Given the description of an element on the screen output the (x, y) to click on. 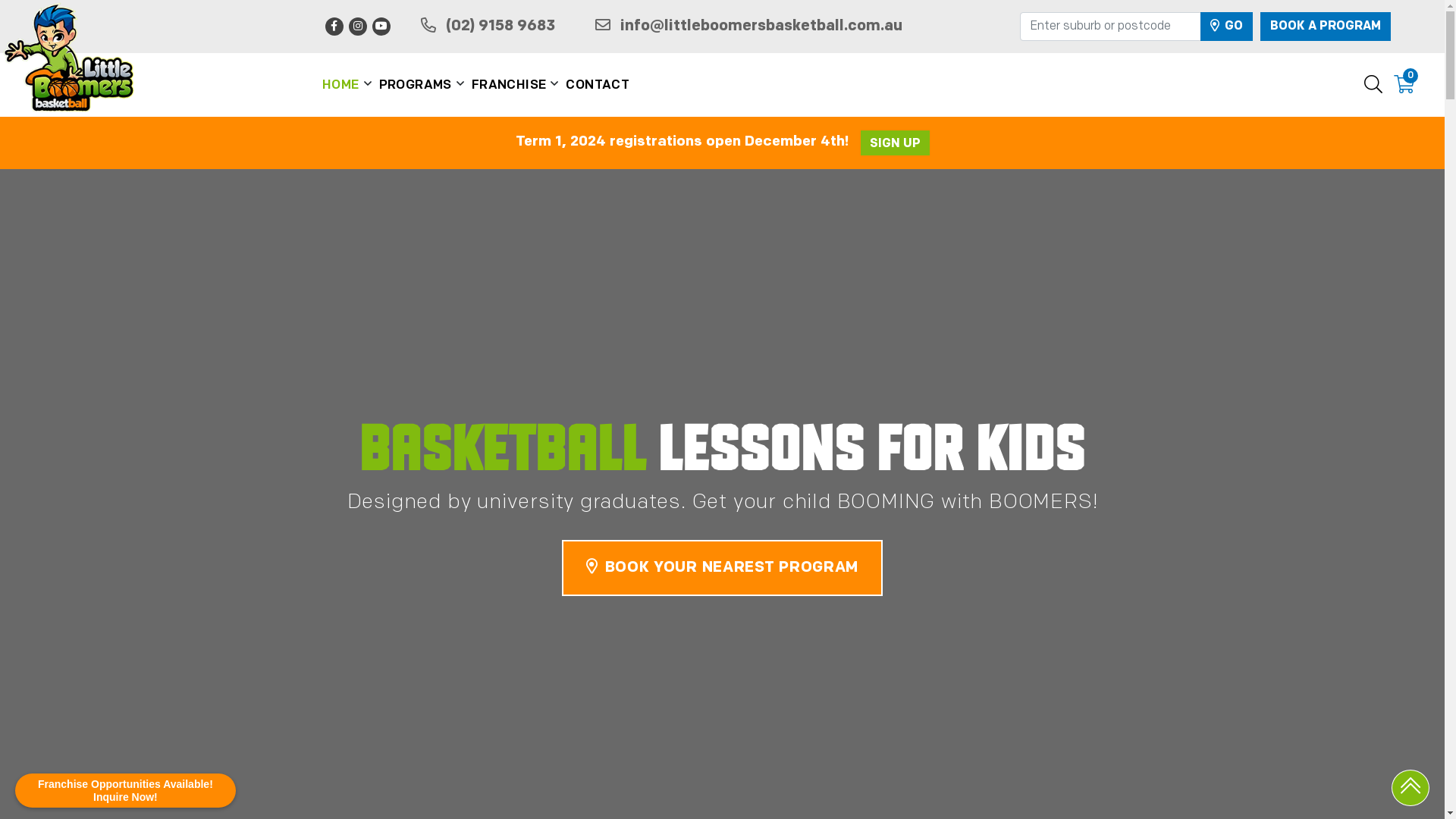
(02) 9158 9683 Element type: text (487, 26)
info@littleboomersbasketball.com.au Element type: text (748, 26)
FRANCHISE Element type: text (508, 85)
 GO Element type: text (1225, 26)
BOOK YOUR NEAREST PROGRAM Element type: text (721, 567)
CONTACT Element type: text (597, 85)
SIGN UP Element type: text (893, 142)
PROGRAMS Element type: text (415, 85)
HOME Element type: text (340, 85)
BOOK A PROGRAM Element type: text (1325, 26)
